Given the description of an element on the screen output the (x, y) to click on. 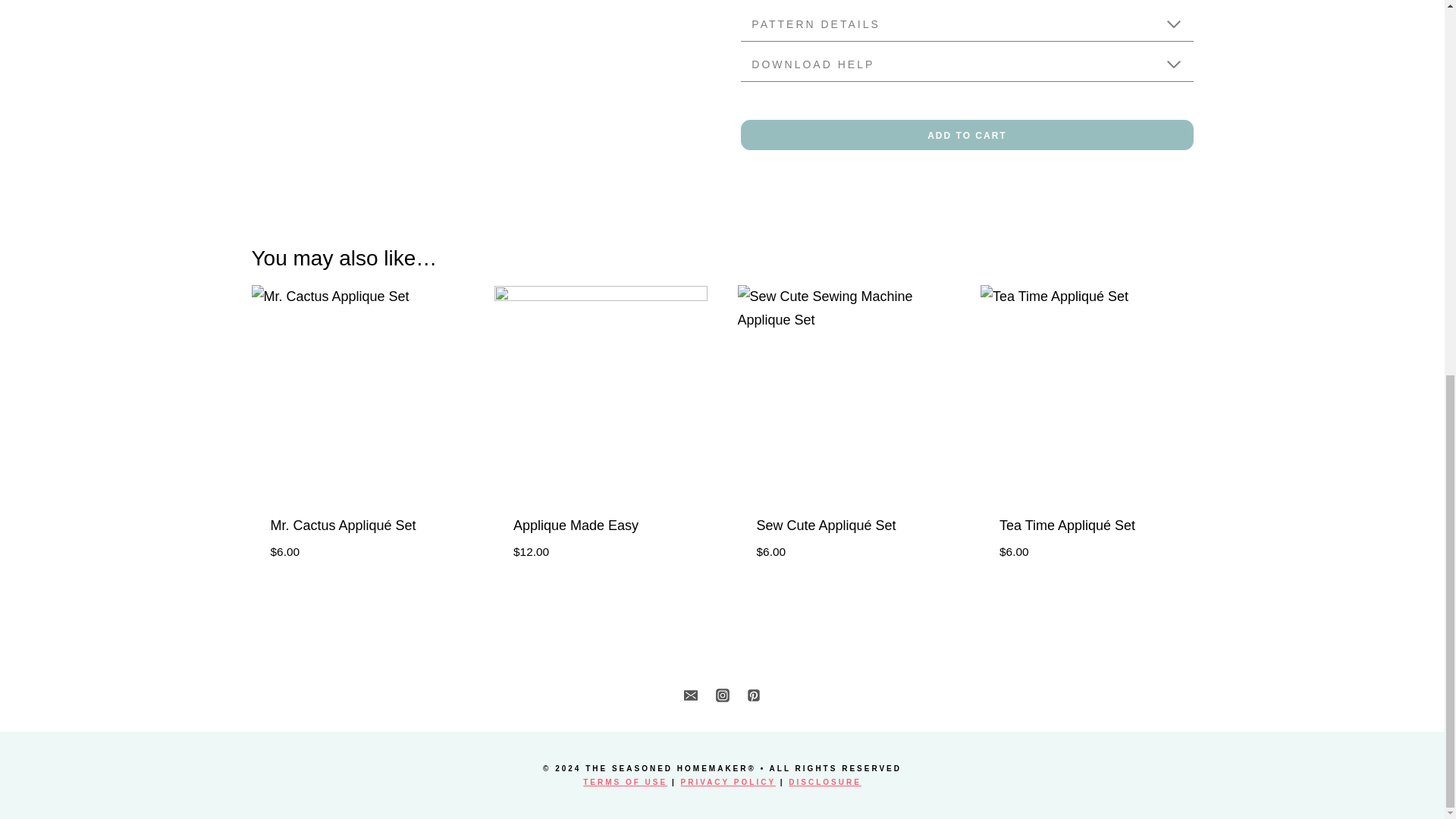
PATTERN DETAILS (966, 24)
DOWNLOAD HELP (966, 64)
ADD TO CART (966, 134)
Applique Made Easy (576, 525)
